Given the description of an element on the screen output the (x, y) to click on. 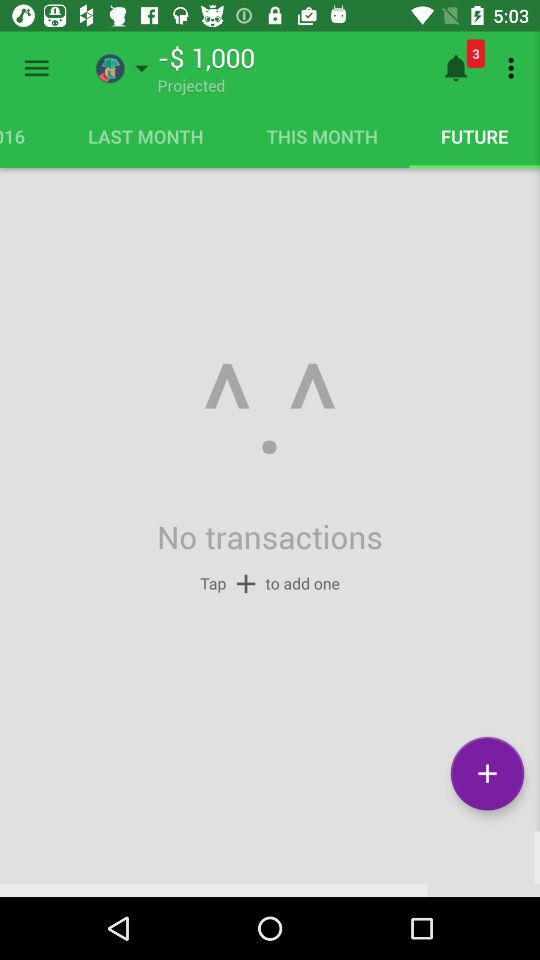
turn off ^.^ icon (269, 410)
